Given the description of an element on the screen output the (x, y) to click on. 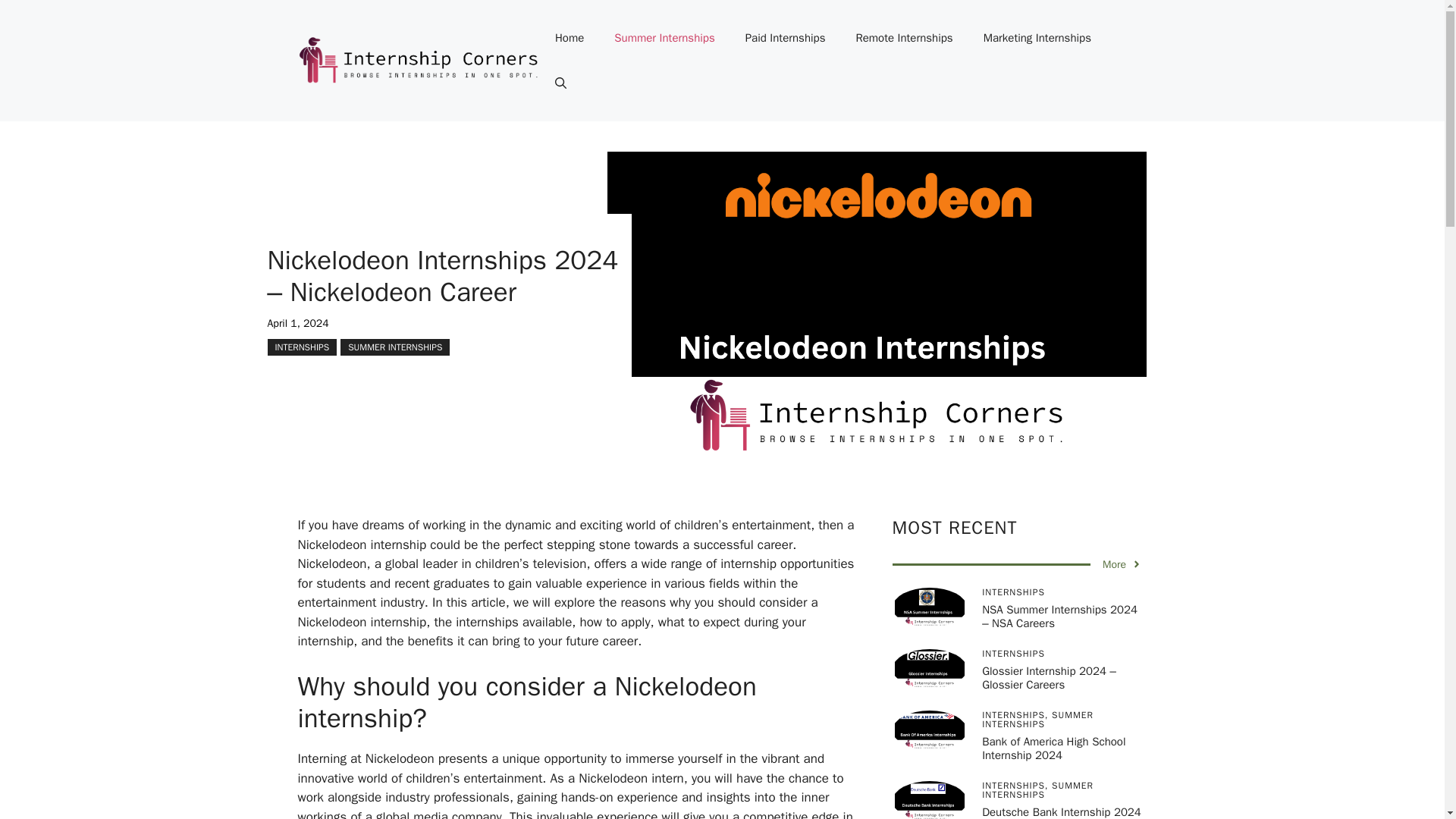
INTERNSHIPS (301, 346)
Remote Internships (904, 37)
Paid Internships (785, 37)
Bank of America High School Internship 2024 (1053, 748)
Marketing Internships (1037, 37)
Summer Internships (663, 37)
Home (569, 37)
More (1121, 564)
SUMMER INTERNSHIPS (394, 346)
